Given the description of an element on the screen output the (x, y) to click on. 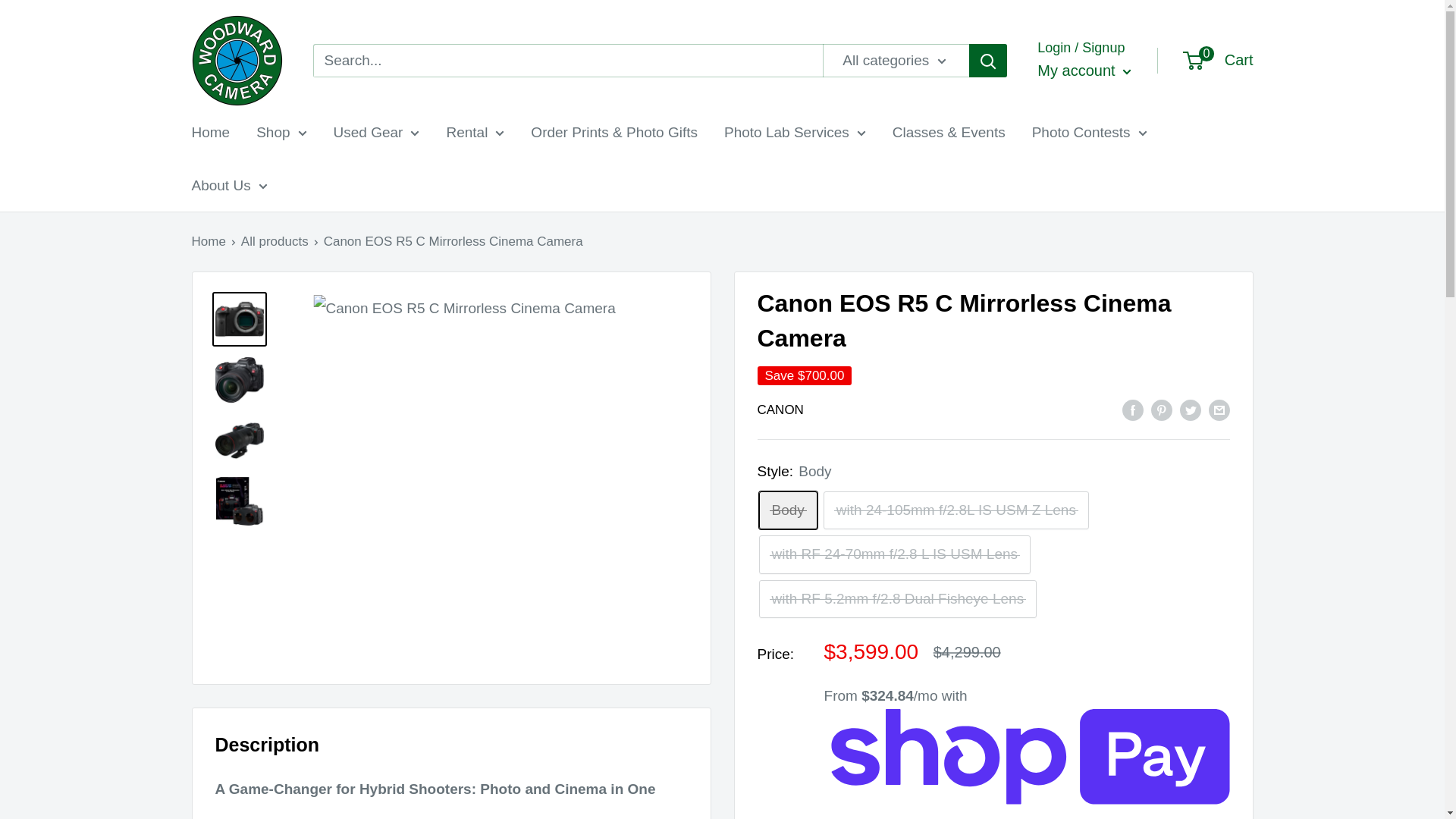
Body (787, 510)
